Given the description of an element on the screen output the (x, y) to click on. 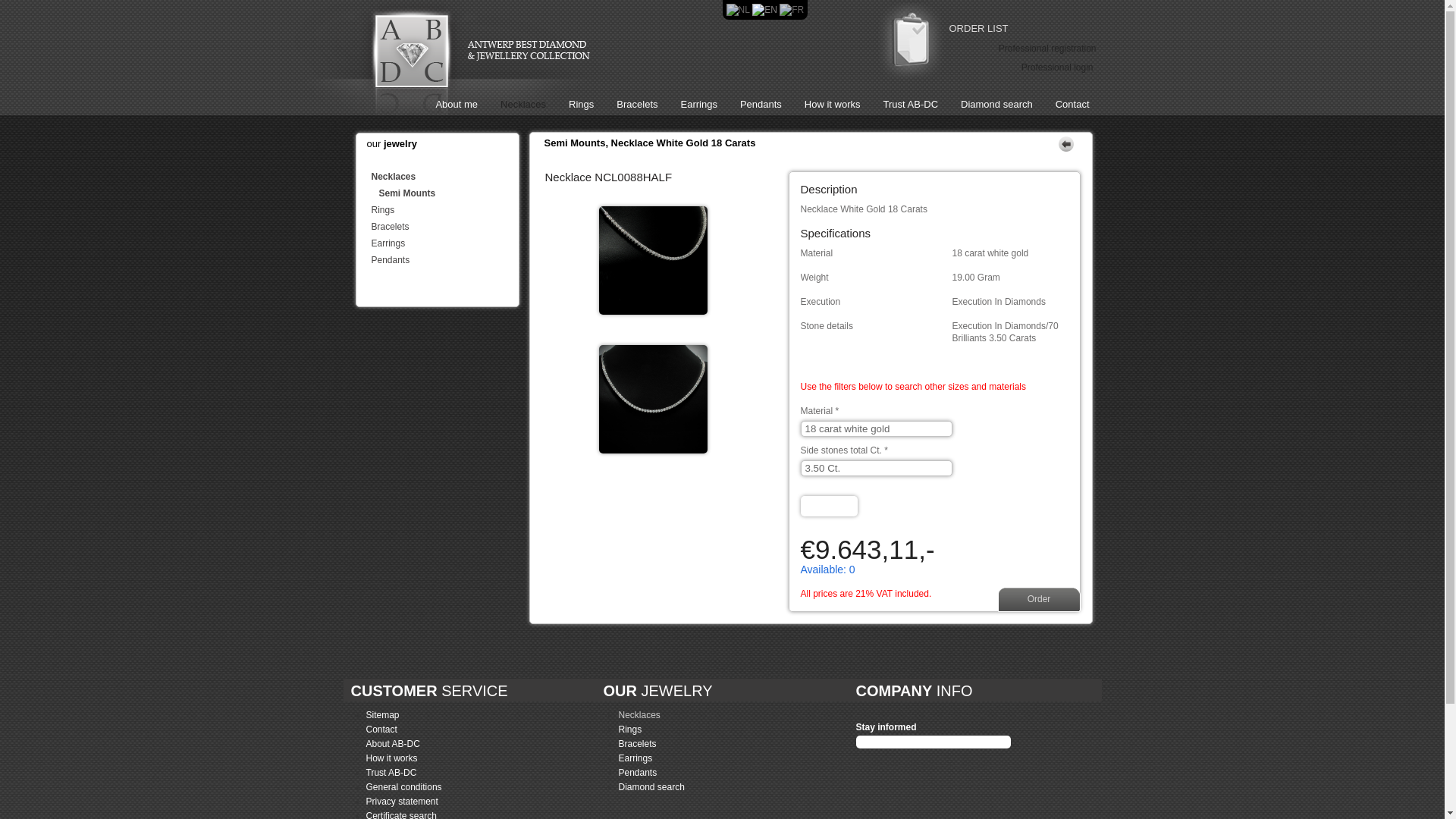
Pendants Element type: text (709, 772)
Search Element type: text (829, 505)
FR Element type: hover (791, 9)
About me Element type: text (456, 104)
Rings Element type: text (444, 209)
Contact Element type: text (1072, 104)
Contact Element type: text (456, 729)
Earrings Element type: text (444, 243)
General conditions Element type: text (456, 787)
EN Element type: hover (764, 9)
Professional registration Element type: text (1047, 48)
NL Element type: hover (737, 9)
Diamond search Element type: text (996, 104)
How it works Element type: text (456, 758)
Rings Element type: text (709, 729)
Bracelets Element type: text (709, 743)
Pendants Element type: text (760, 104)
Necklace NCL0088HALF Element type: hover (617, 326)
Trust AB-DC Element type: text (910, 104)
Earrings Element type: text (698, 104)
Professional login Element type: text (1057, 67)
Necklaces Element type: text (444, 176)
Necklaces Element type: text (709, 715)
NL Element type: hover (737, 9)
Trust AB-DC Element type: text (456, 772)
Diamond search Element type: text (709, 787)
Rings Element type: text (581, 104)
Pendants Element type: text (444, 259)
Earrings Element type: text (709, 758)
FR Element type: hover (791, 9)
Necklaces Element type: text (523, 104)
Semi Mounts Element type: text (448, 193)
About AB-DC Element type: text (456, 743)
Bracelets Element type: text (636, 104)
Privacy statement Element type: text (456, 801)
Bracelets Element type: text (444, 226)
Order Element type: text (1038, 598)
EN Element type: hover (764, 9)
How it works Element type: text (832, 104)
Sitemap Element type: text (456, 715)
Necklace NCL0088HALF Element type: hover (617, 465)
